Given the description of an element on the screen output the (x, y) to click on. 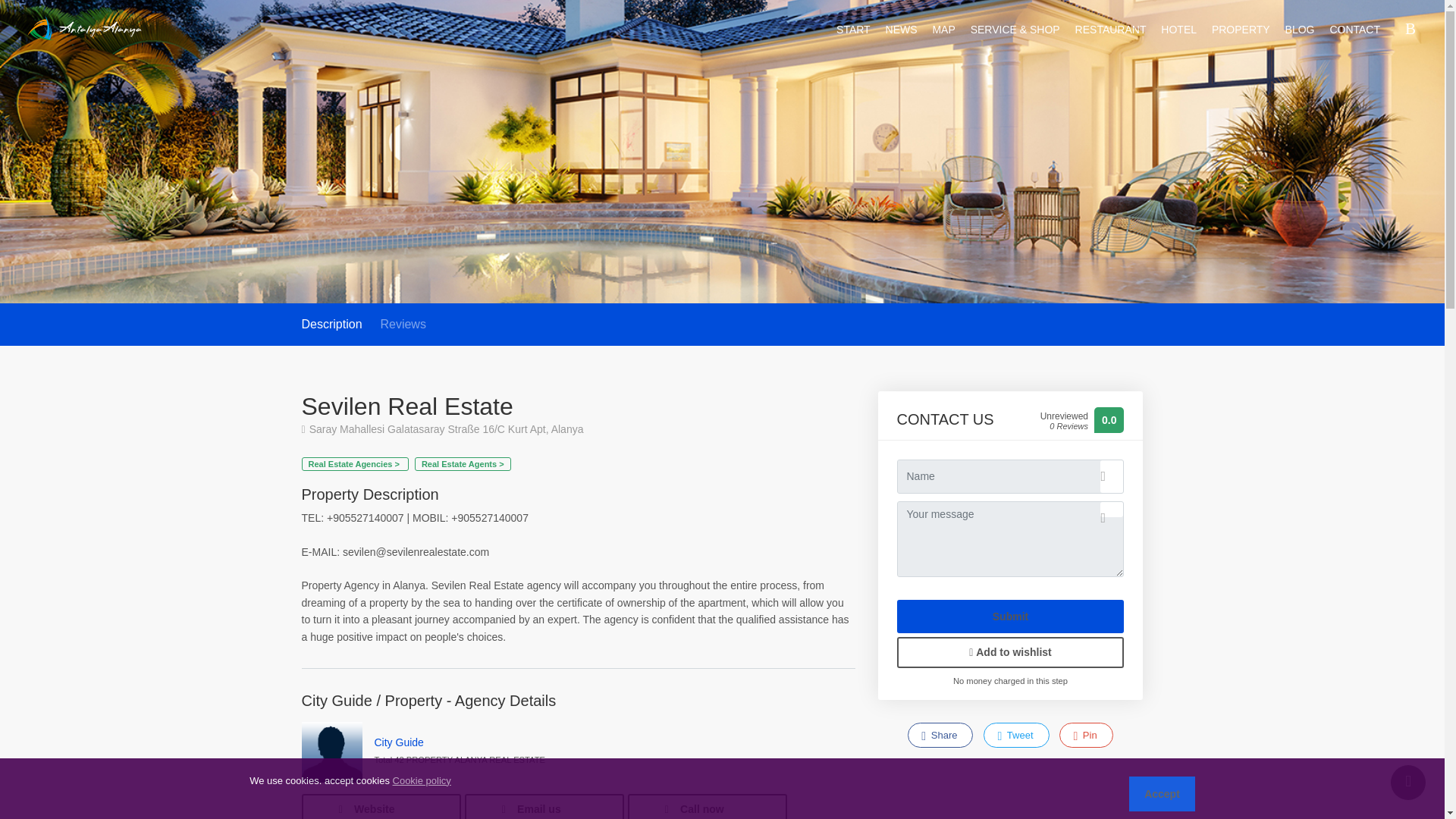
Submit (1010, 616)
Sign In (1413, 29)
Description (331, 323)
Tweet (1016, 734)
Call now (707, 806)
Email us (543, 806)
Reviews (402, 323)
Website (381, 806)
Add to wishlist (1010, 652)
Pin (1085, 734)
AGENCIES GUIDE (85, 27)
City Guide (398, 742)
Share (939, 734)
